Given the description of an element on the screen output the (x, y) to click on. 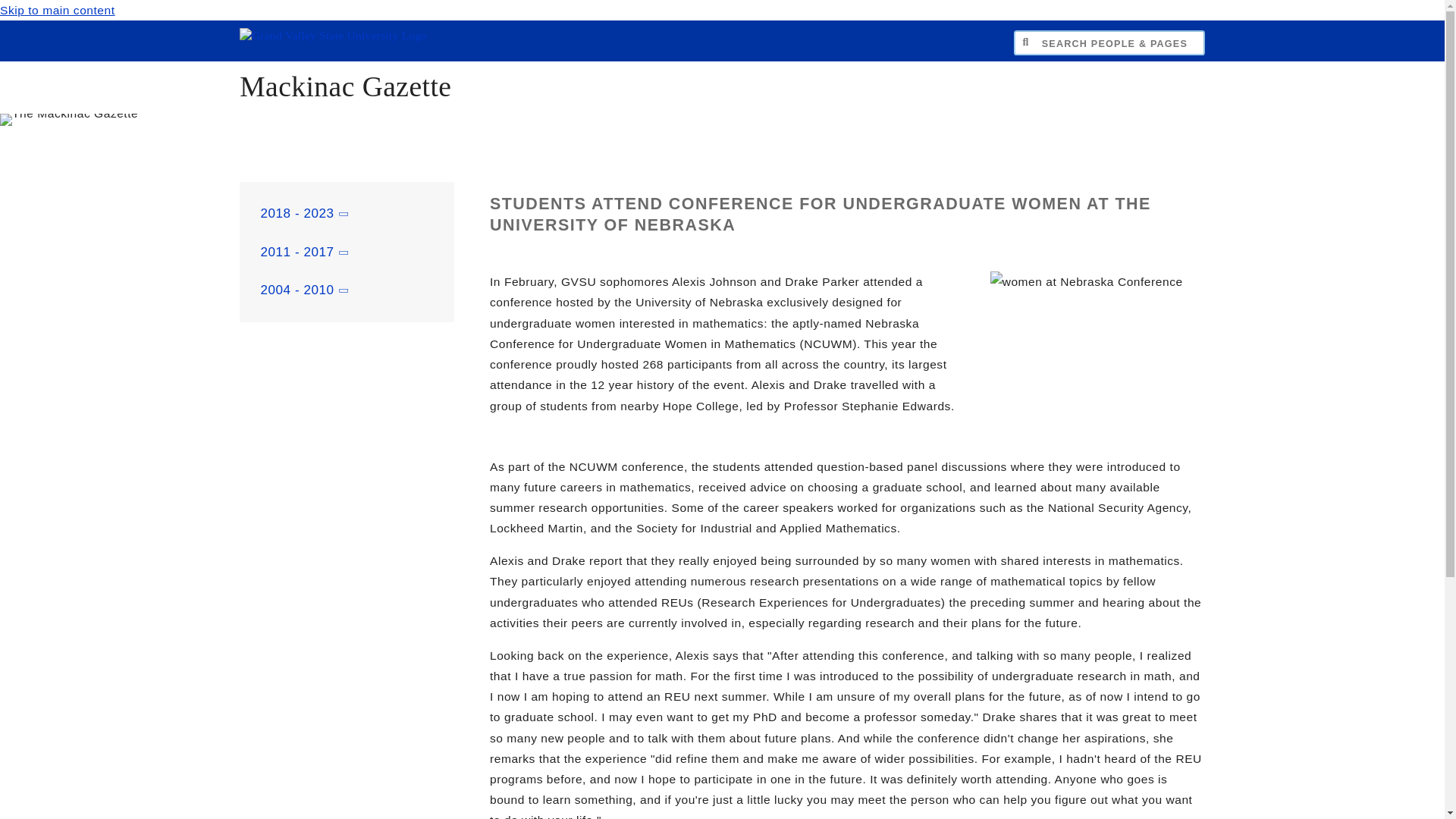
2011 - 2017 (346, 251)
Skip to main content (57, 10)
Mackinac Gazette (345, 86)
2004 - 2010 (346, 290)
2018 - 2023 (346, 213)
